Given the description of an element on the screen output the (x, y) to click on. 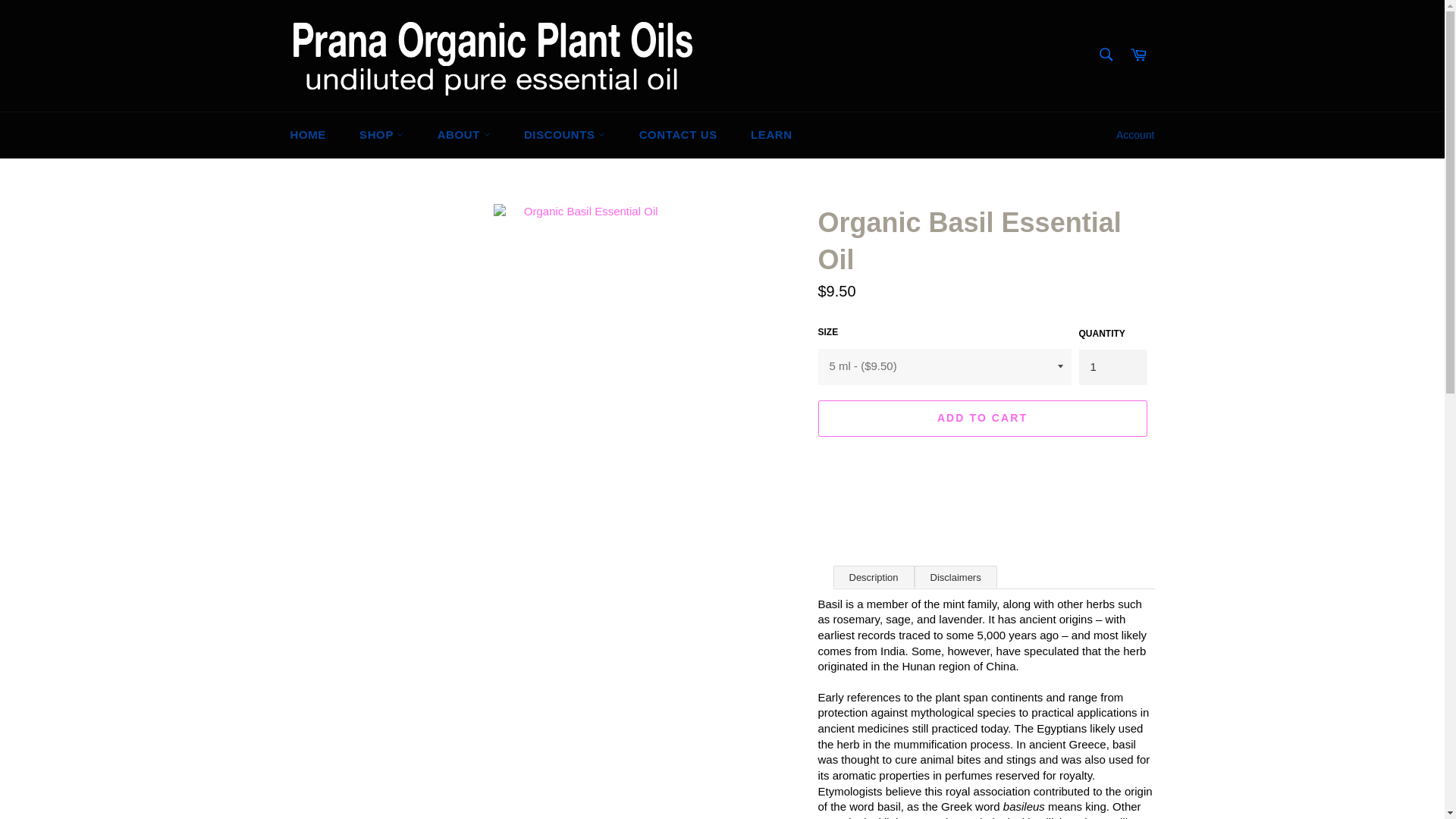
1 (1112, 366)
